Given the description of an element on the screen output the (x, y) to click on. 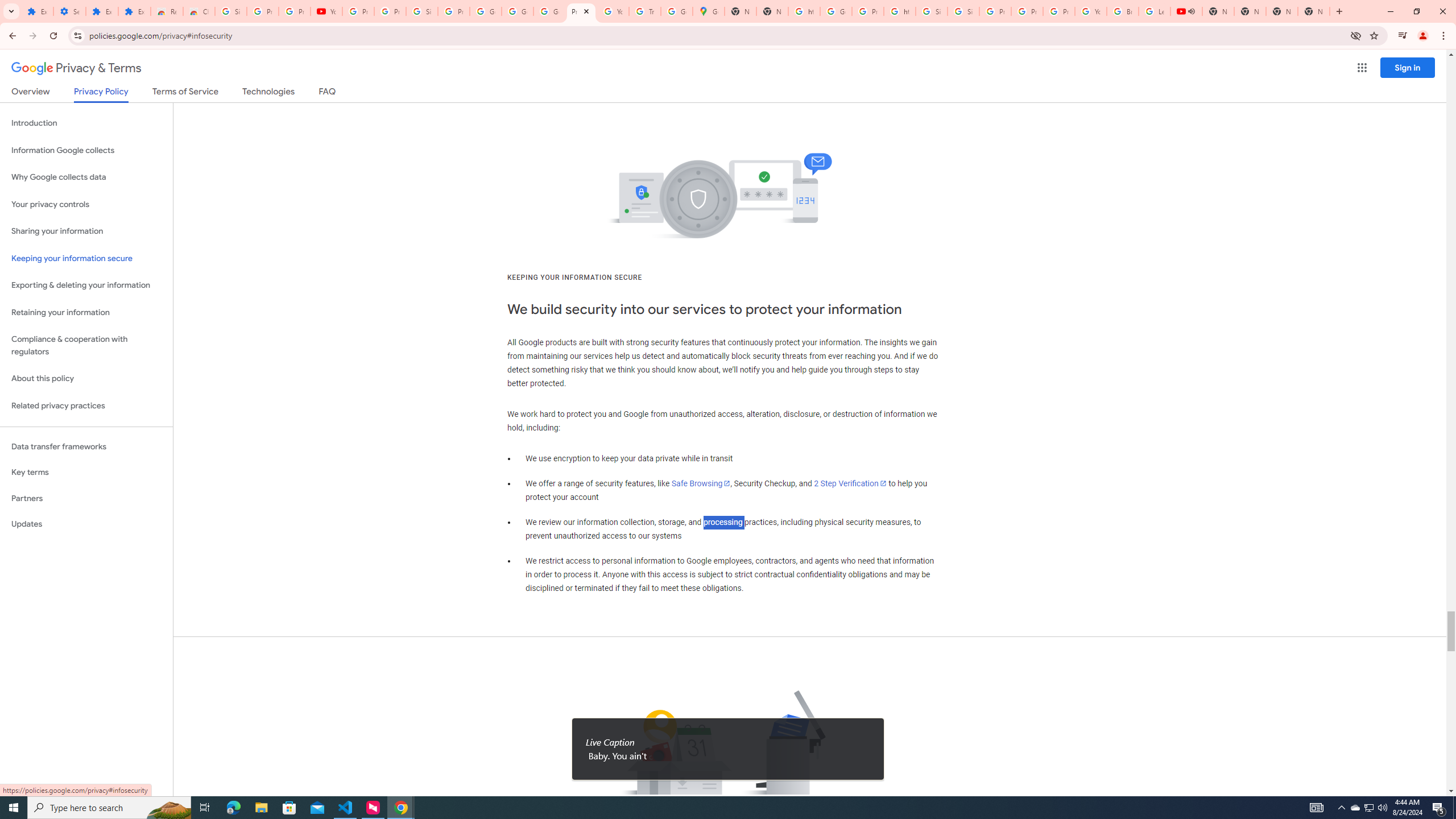
Privacy Help Center - Policies Help (995, 11)
https://scholar.google.com/ (899, 11)
Safe Browsing (700, 483)
YouTube (326, 11)
